Given the description of an element on the screen output the (x, y) to click on. 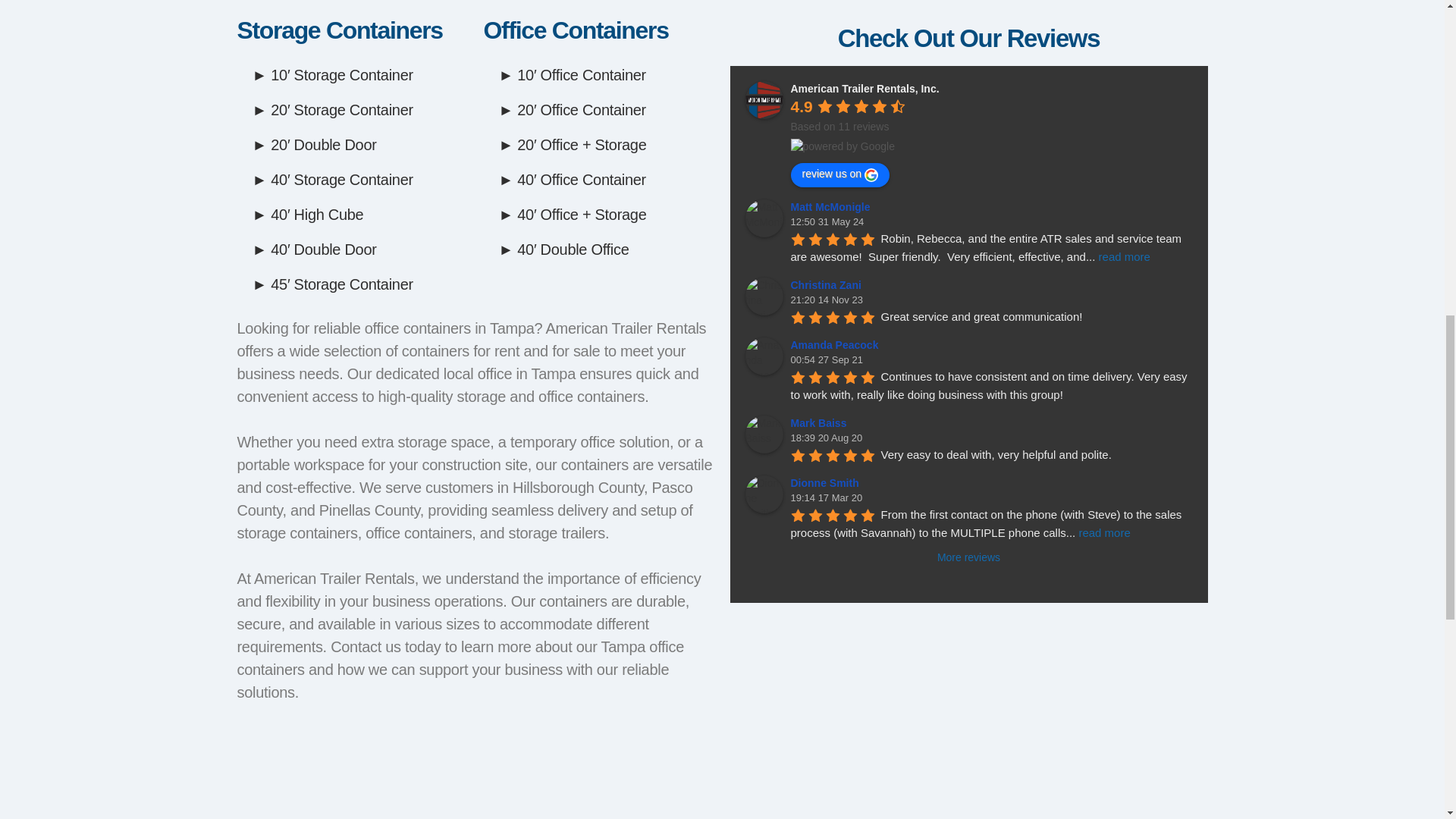
Matt McMonigle (763, 218)
Christina Zani (763, 296)
powered by Google (841, 145)
Mark Baiss (763, 434)
American Trailer Rentals, Inc. (763, 99)
Dionne Smith (763, 494)
Amanda Peacock (763, 356)
